Given the description of an element on the screen output the (x, y) to click on. 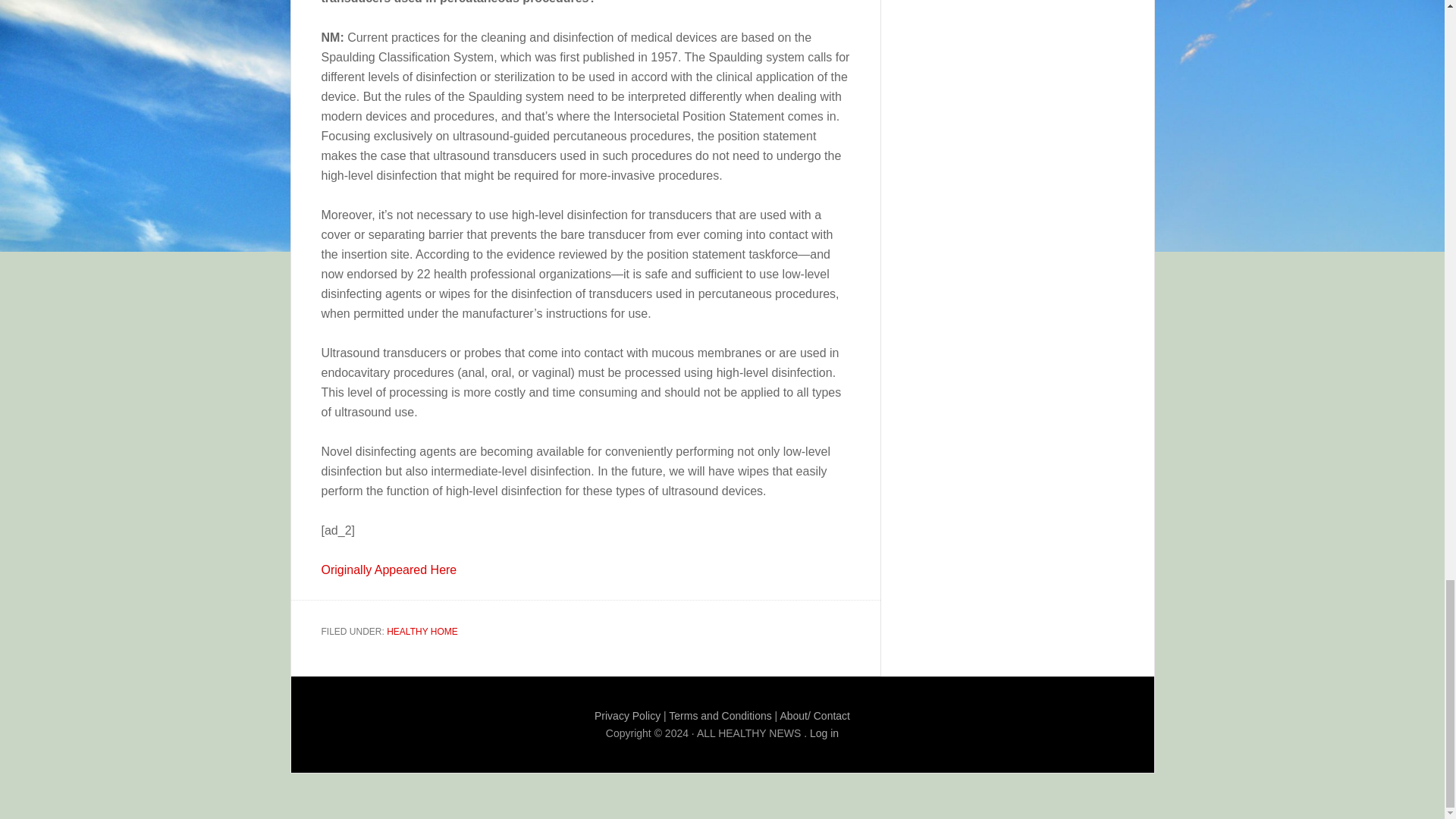
Log in (823, 733)
Privacy Policy (627, 715)
HEALTHY HOME (422, 631)
Terms and Conditions (719, 715)
Originally Appeared Here (389, 569)
